Given the description of an element on the screen output the (x, y) to click on. 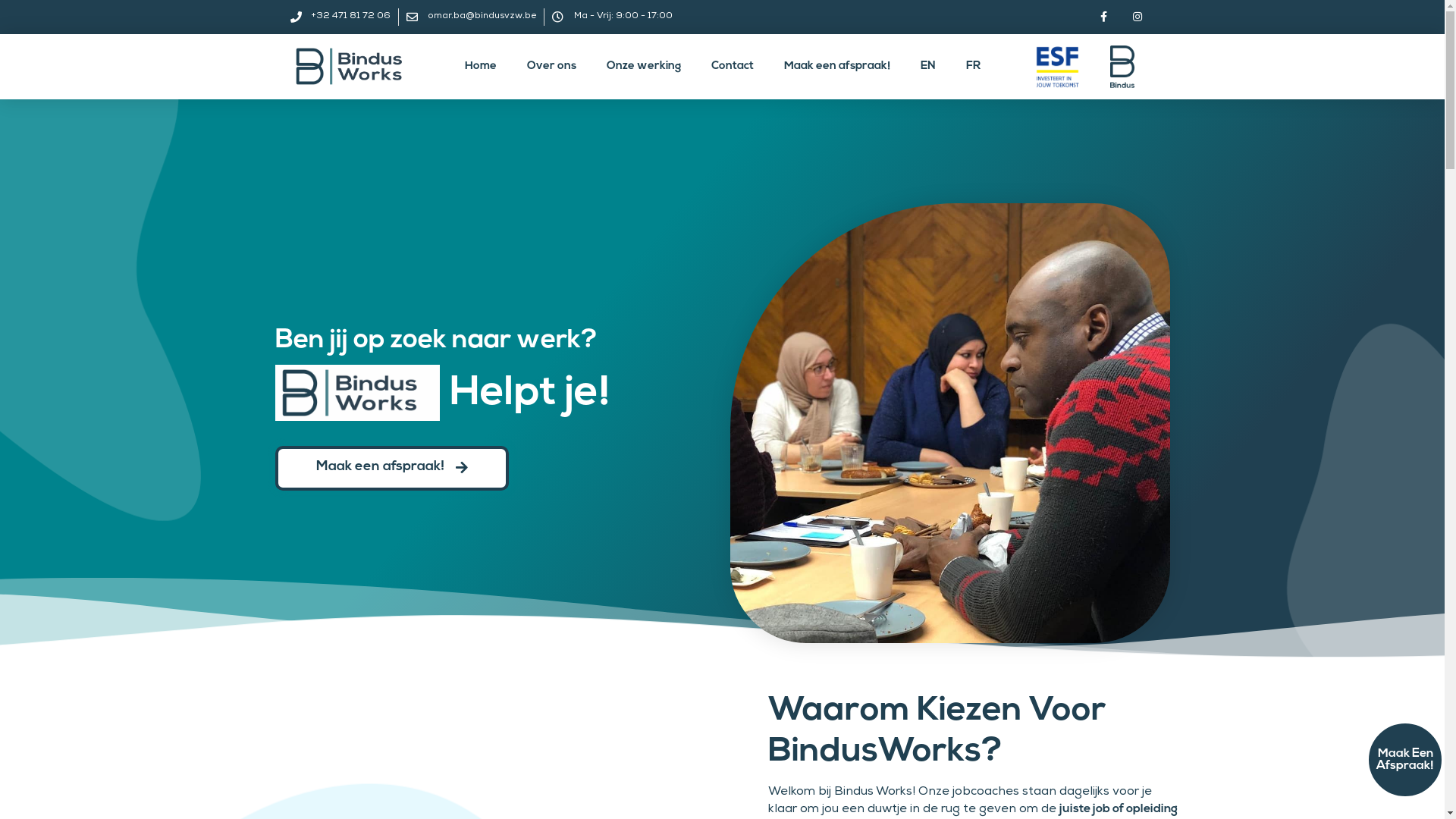
FR Element type: text (972, 66)
Maak Een Afspraak! Element type: text (1404, 759)
Maak een afspraak! Element type: text (836, 66)
+32 471 81 72 06 Element type: text (339, 16)
Contact Element type: text (732, 66)
Home Element type: text (479, 66)
Over ons Element type: text (550, 66)
omar.ba@bindusvzw.be Element type: text (471, 16)
Instagram Element type: text (1137, 17)
Maak een afspraak! Element type: text (391, 467)
EN Element type: text (927, 66)
Onze werking Element type: text (643, 66)
Facebook-f Element type: text (1103, 17)
